Given the description of an element on the screen output the (x, y) to click on. 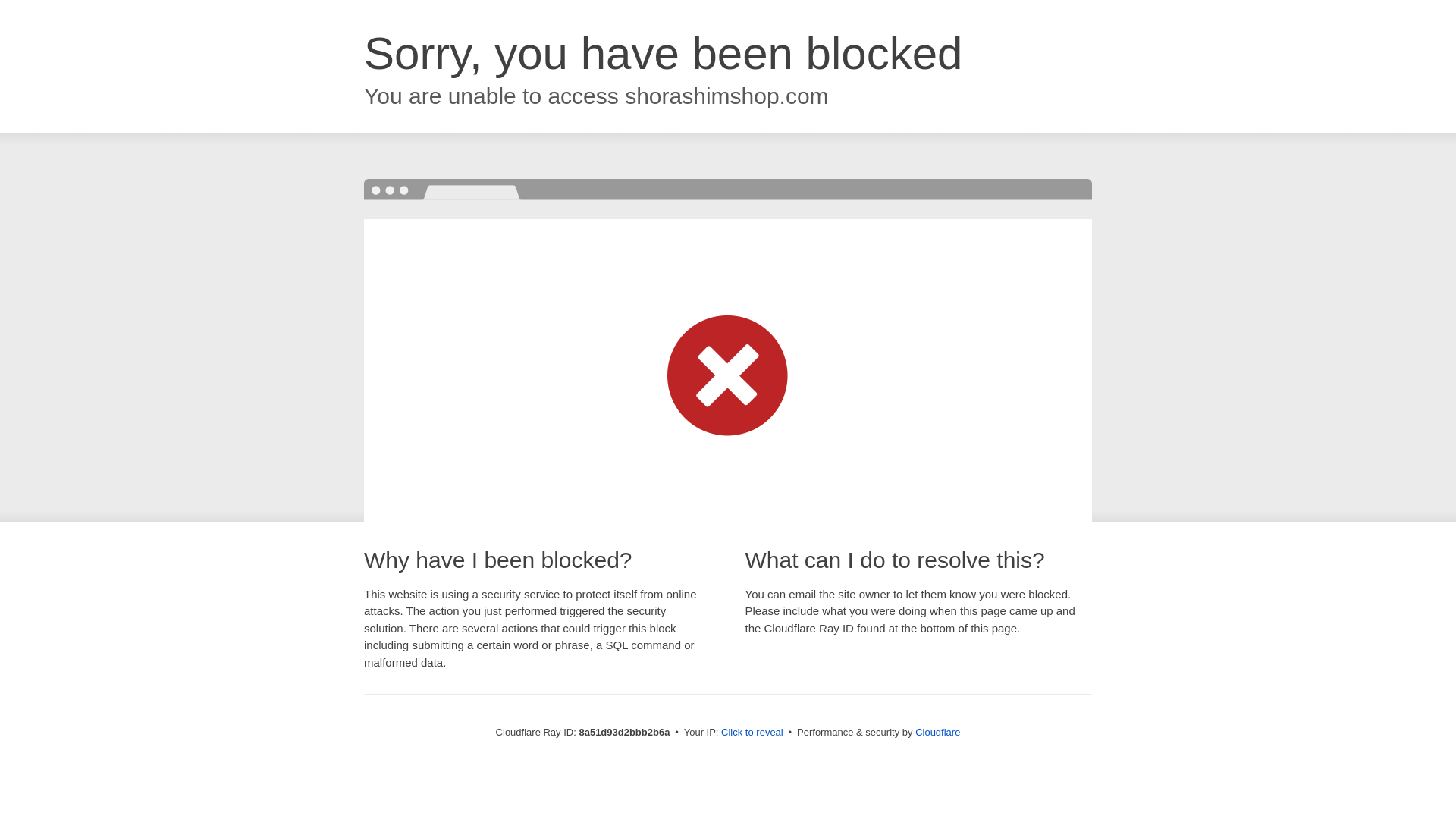
Cloudflare (937, 731)
Click to reveal (751, 732)
